Given the description of an element on the screen output the (x, y) to click on. 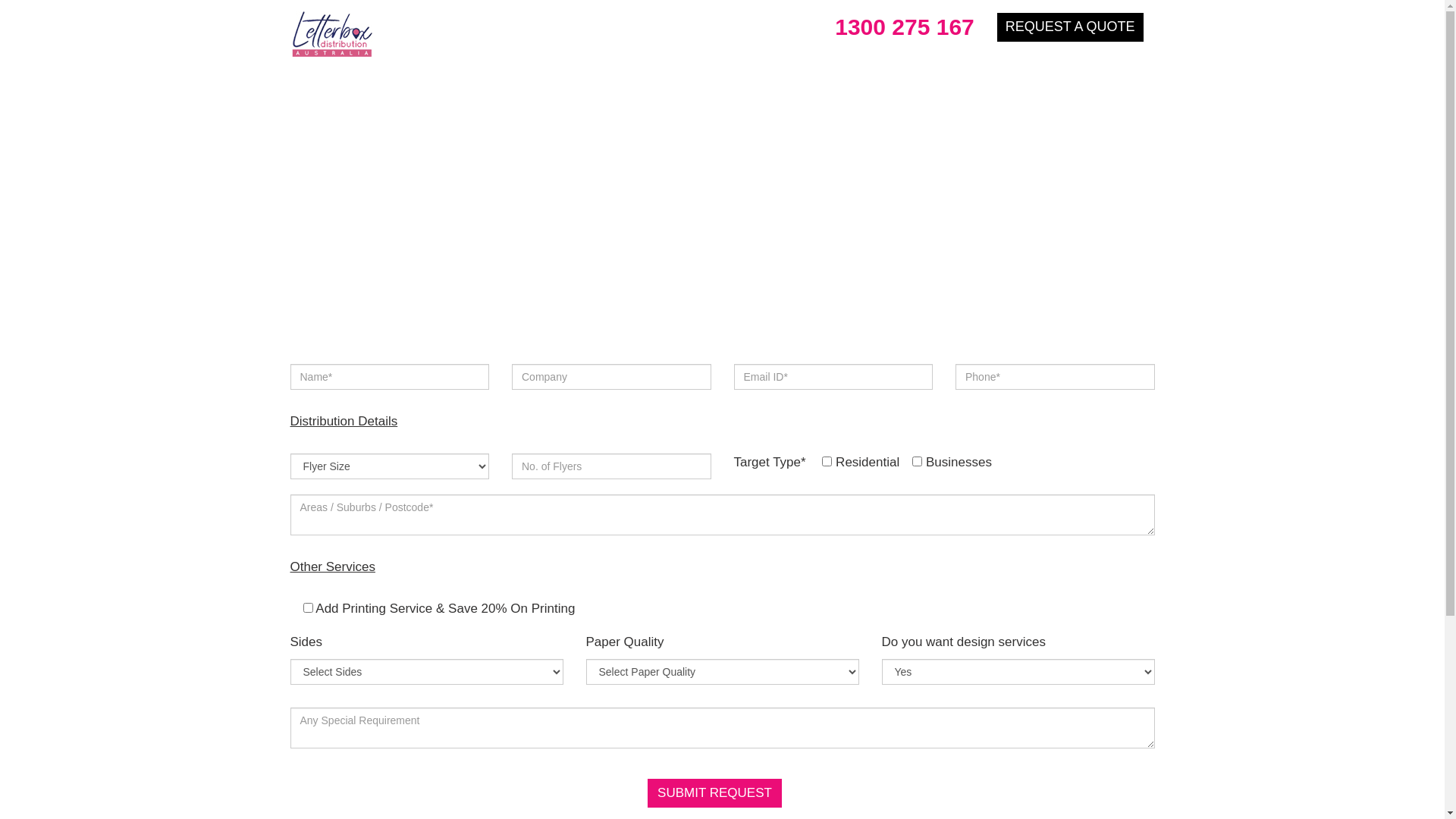
1300 275 167 Element type: text (898, 27)
Submit Request Element type: text (714, 792)
REQUEST A QUOTE Element type: text (1070, 26)
